Given the description of an element on the screen output the (x, y) to click on. 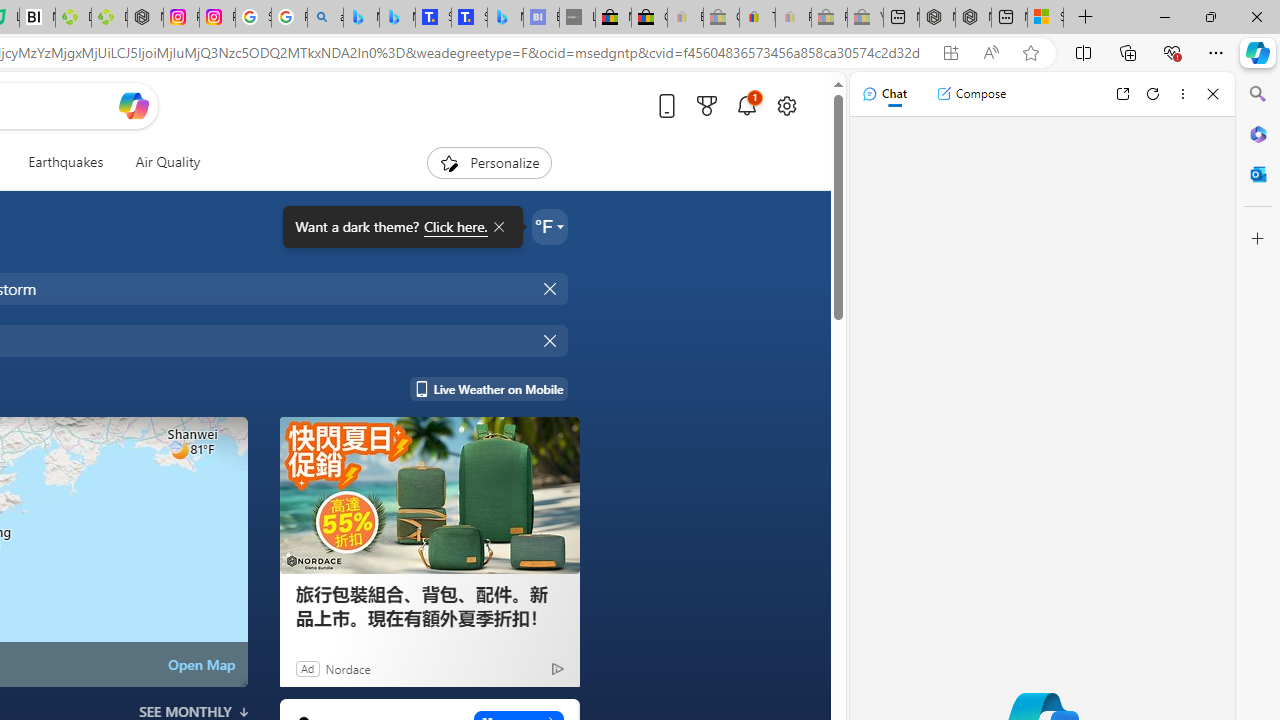
Earthquakes (65, 162)
Nordace (348, 668)
Chat (884, 93)
Open link in new tab (1122, 93)
See Monthly (193, 712)
